Given the description of an element on the screen output the (x, y) to click on. 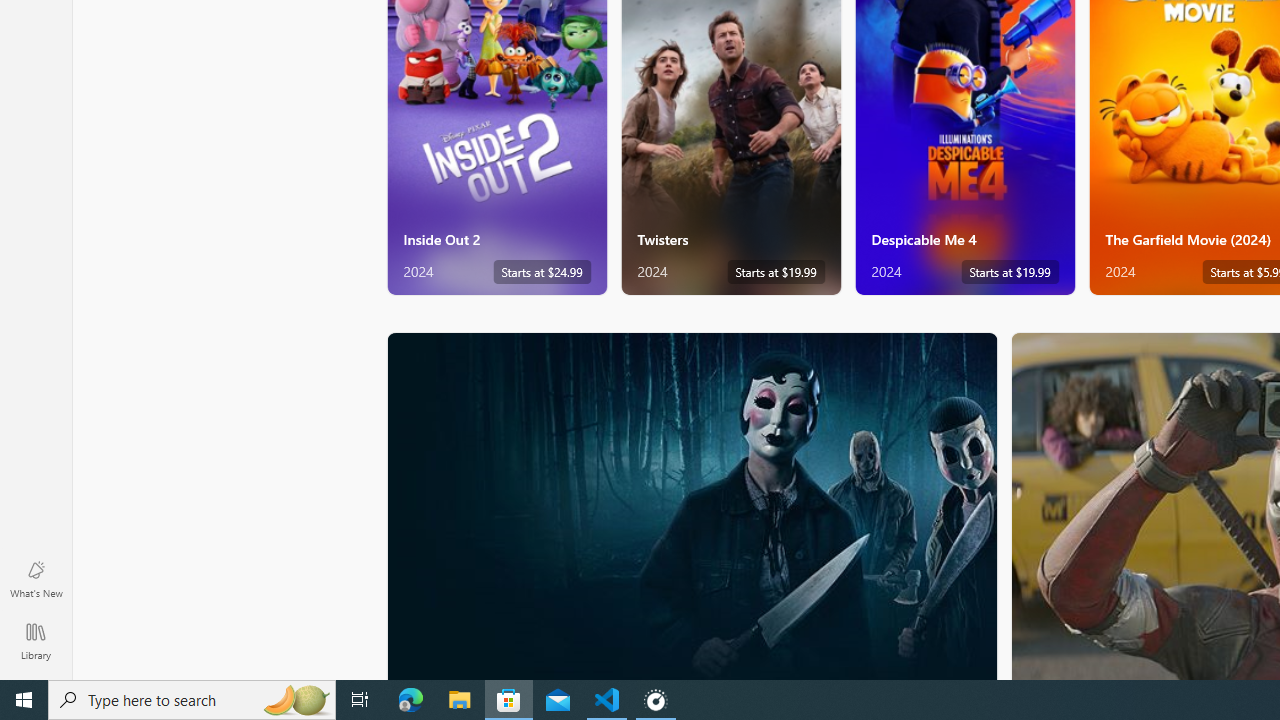
AutomationID: PosterImage (690, 505)
Horror (692, 505)
